Given the description of an element on the screen output the (x, y) to click on. 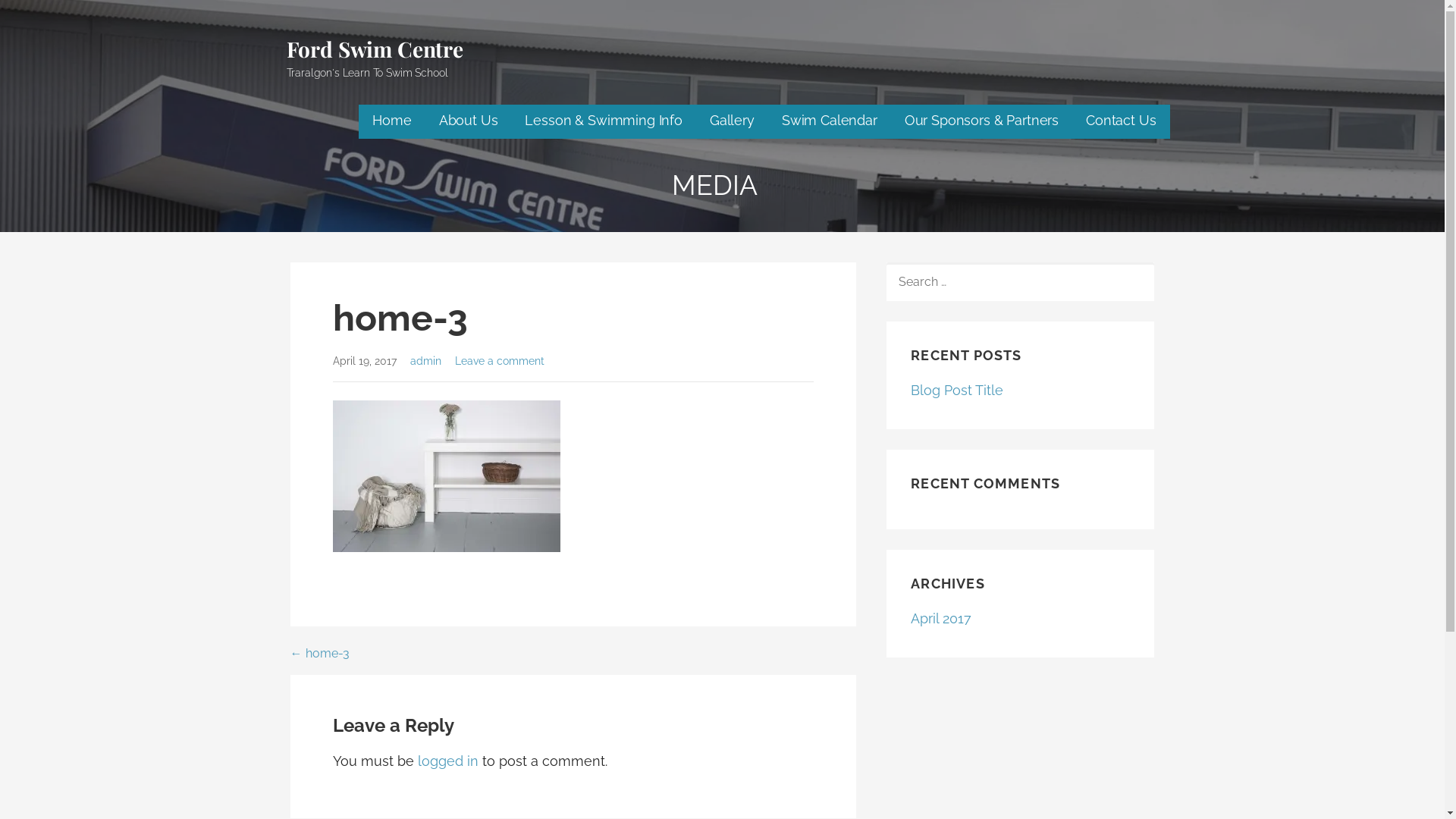
Home Element type: text (391, 121)
About Us Element type: text (468, 121)
Swim Calendar Element type: text (829, 121)
admin Element type: text (425, 360)
Our Sponsors & Partners Element type: text (981, 121)
Contact Us Element type: text (1120, 121)
Ford Swim Centre Element type: text (374, 48)
logged in Element type: text (447, 760)
Gallery Element type: text (731, 121)
Leave a comment Element type: text (499, 360)
Blog Post Title Element type: text (956, 390)
April 2017 Element type: text (940, 618)
Lesson & Swimming Info Element type: text (602, 121)
Search Element type: text (46, 17)
